Given the description of an element on the screen output the (x, y) to click on. 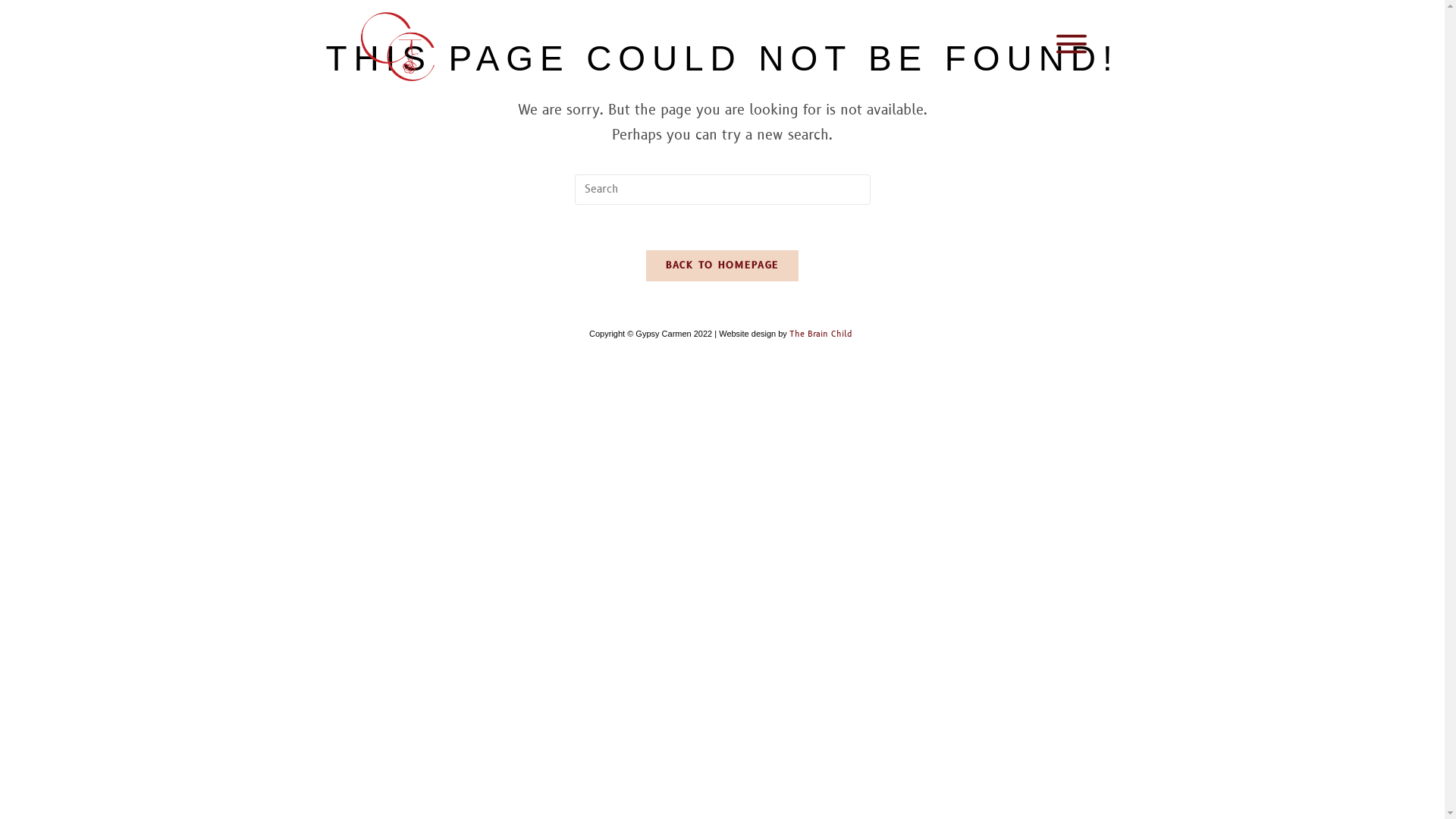
The Brain Child  Element type: text (822, 333)
BACK TO HOMEPAGE Element type: text (722, 265)
